Given the description of an element on the screen output the (x, y) to click on. 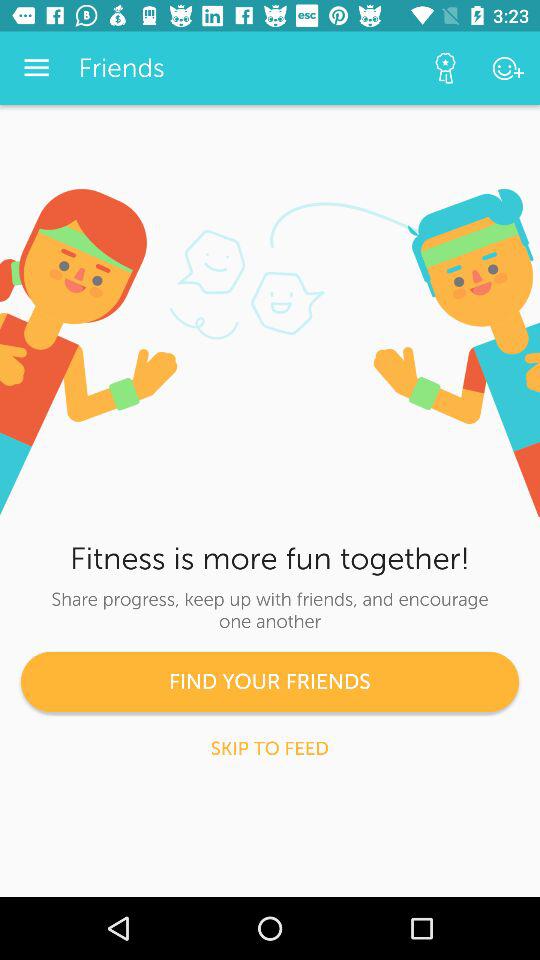
turn on the item to the right of the friends (444, 67)
